Given the description of an element on the screen output the (x, y) to click on. 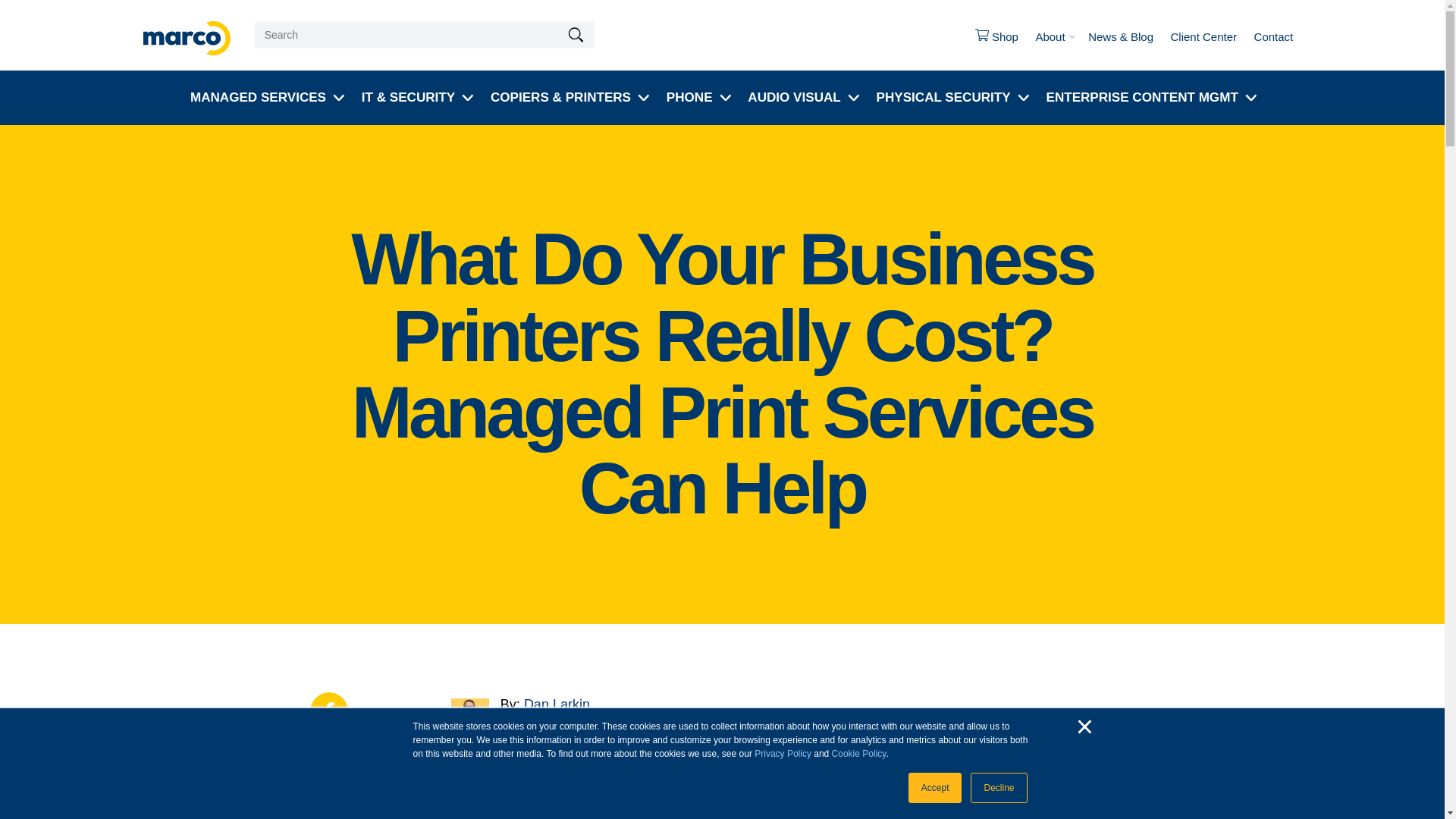
Accept (935, 788)
Privacy Policy (782, 753)
Decline (998, 788)
Share to Twitter (328, 800)
Share to Facebook (328, 711)
Cookie Policy (858, 753)
Share to LinkedIn (328, 756)
